Given the description of an element on the screen output the (x, y) to click on. 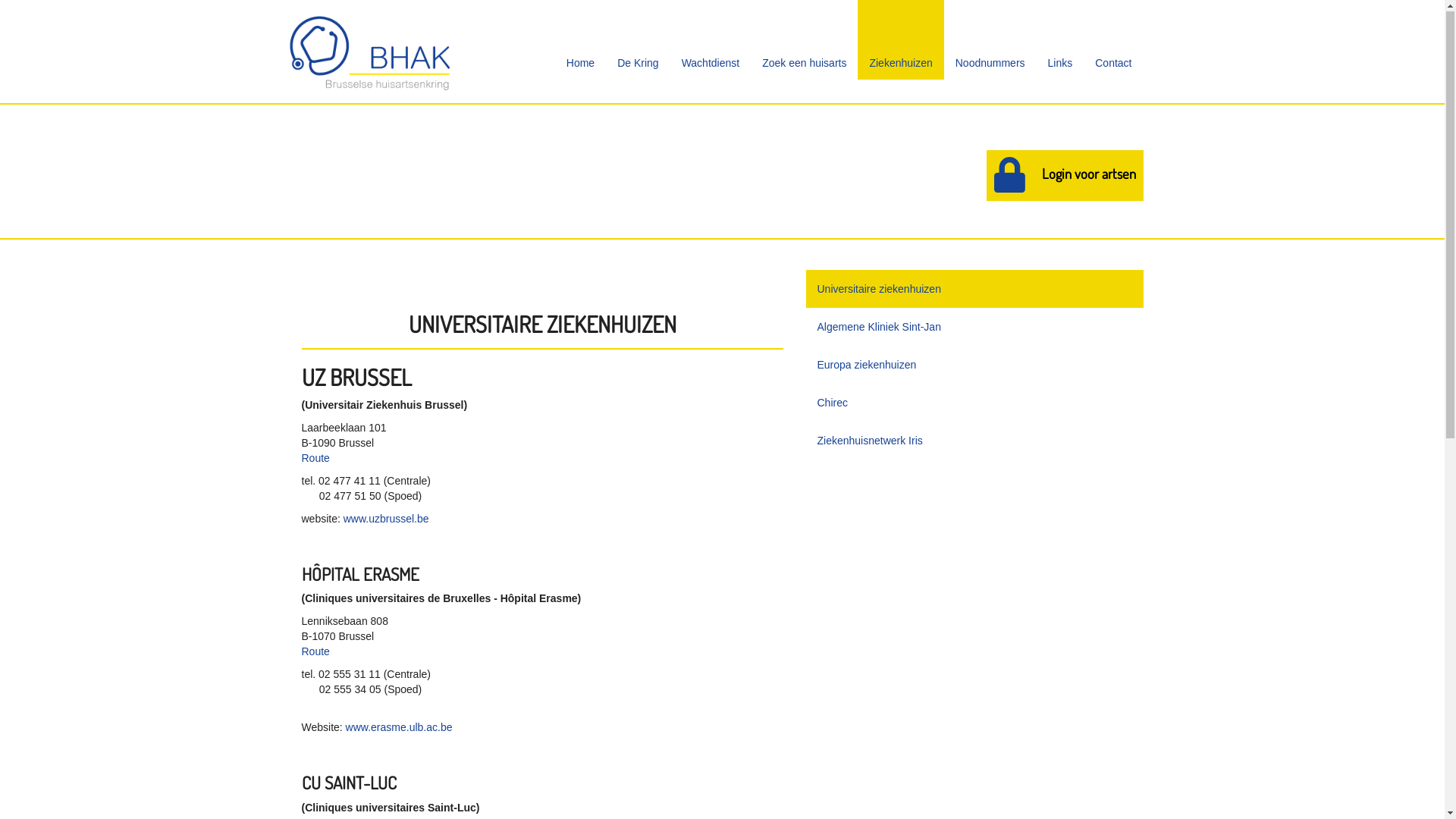
Login voor artsen Element type: text (1063, 175)
Wachtdienst Element type: text (710, 40)
www.uzbrussel.be Element type: text (386, 519)
Chirec Element type: text (973, 403)
Noodnummers Element type: text (990, 40)
Ziekenhuisnetwerk Iris Element type: text (973, 441)
www.erasme.ulb.ac.be Element type: text (398, 727)
Europa ziekenhuizen Element type: text (973, 365)
De Kring Element type: text (637, 40)
Algemene Kliniek Sint-Jan Element type: text (973, 327)
Route Element type: text (315, 458)
Home Element type: text (580, 40)
Universitaire ziekenhuizen Element type: text (973, 289)
Zoek een huisarts Element type: text (803, 40)
Ziekenhuizen Element type: text (900, 40)
Contact Element type: text (1112, 40)
Links Element type: text (1060, 40)
Route Element type: text (315, 652)
